Given the description of an element on the screen output the (x, y) to click on. 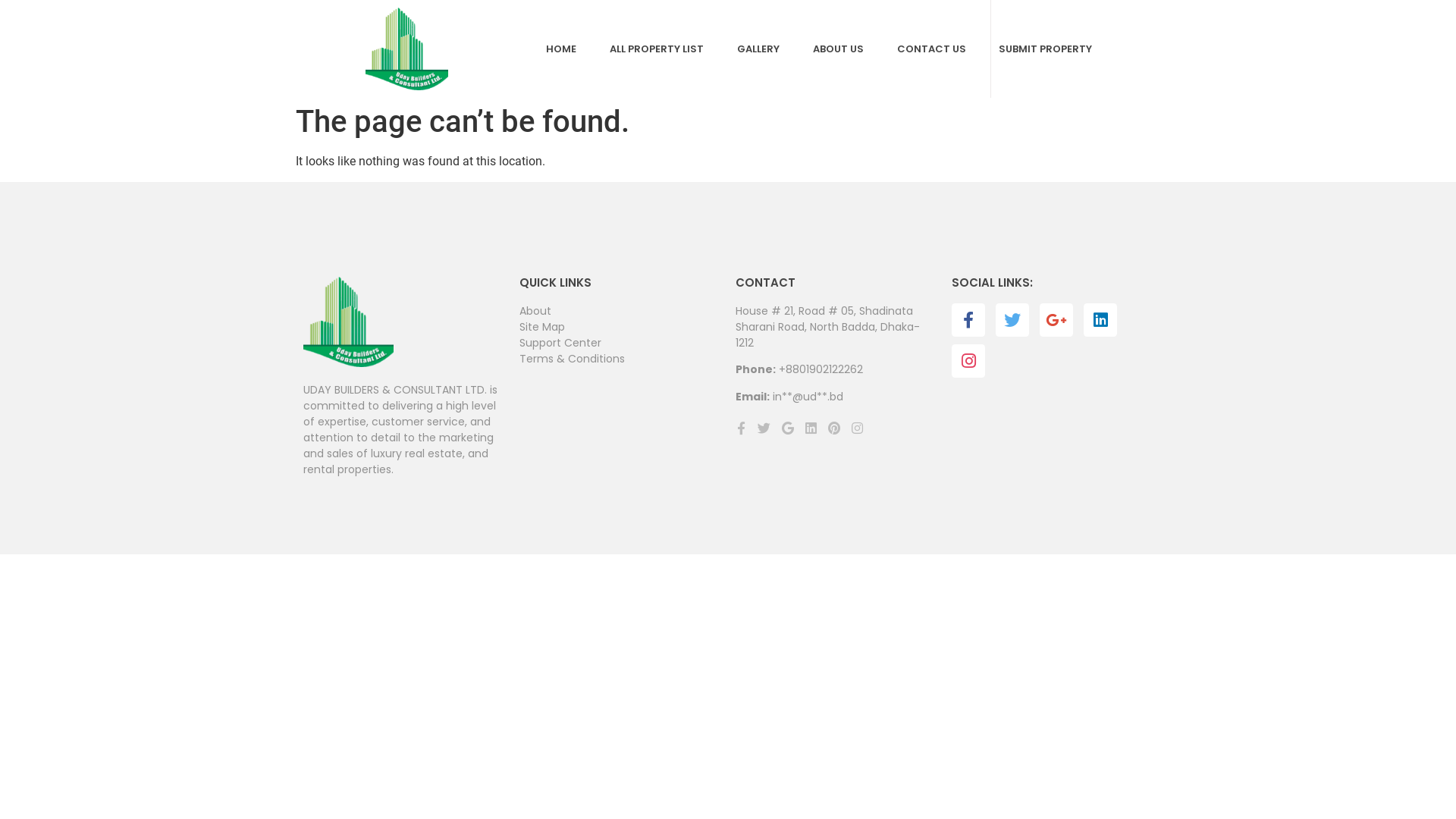
ALL PROPERTY LIST Element type: text (656, 49)
HOME Element type: text (561, 49)
CONTACT US Element type: text (931, 49)
GALLERY Element type: text (758, 49)
ABOUT US Element type: text (838, 49)
